Given the description of an element on the screen output the (x, y) to click on. 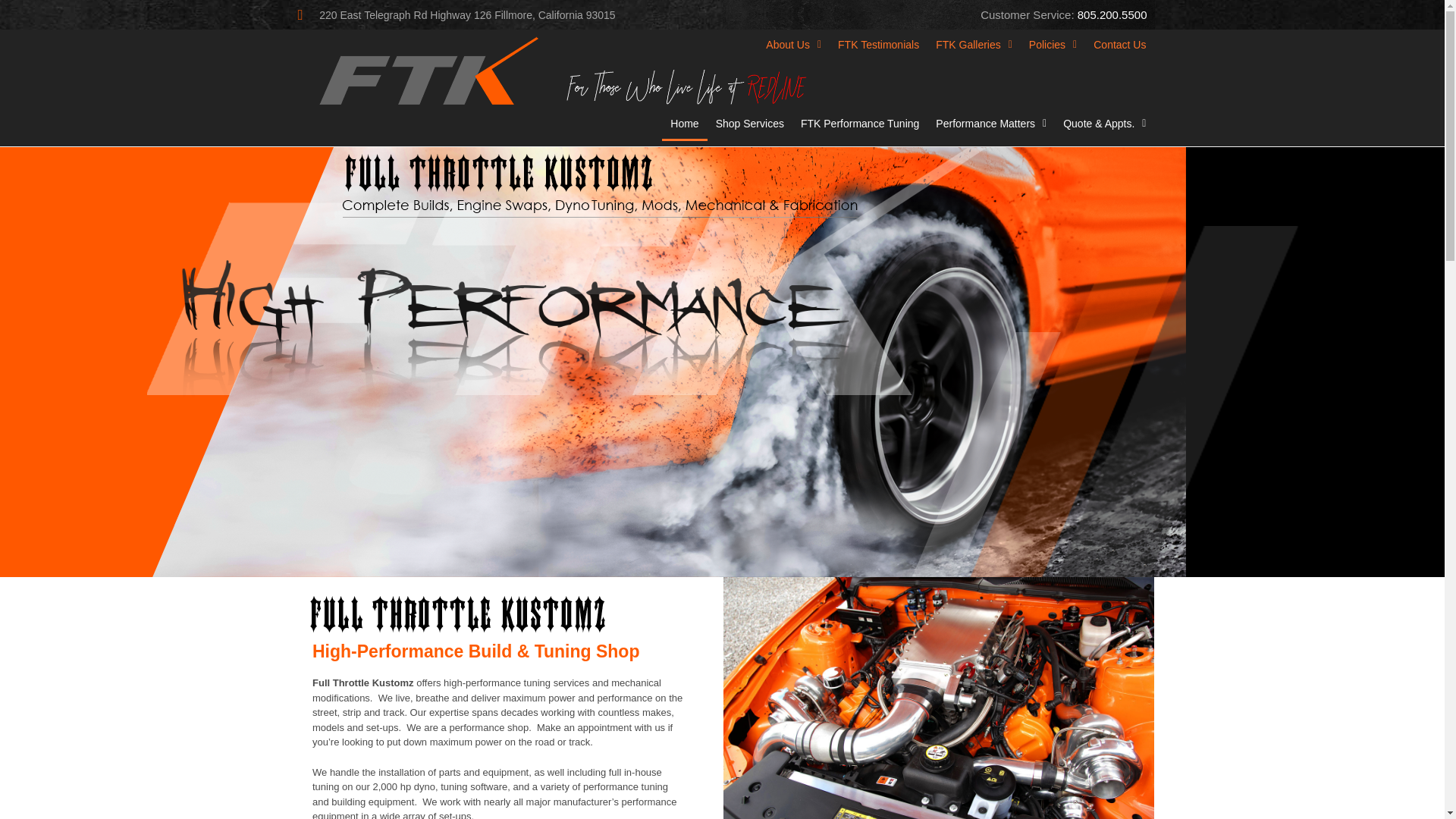
FTK Galleries (973, 44)
220 East Telegraph Rd Highway 126 Fillmore, California 93015 (505, 14)
FTK Testimonials (878, 44)
Shop Services (749, 123)
FTK Performance Tuning (859, 123)
Policies (1052, 44)
About Us (793, 44)
Home (684, 123)
Performance Matters (990, 123)
805.200.5500 (1112, 14)
